Given the description of an element on the screen output the (x, y) to click on. 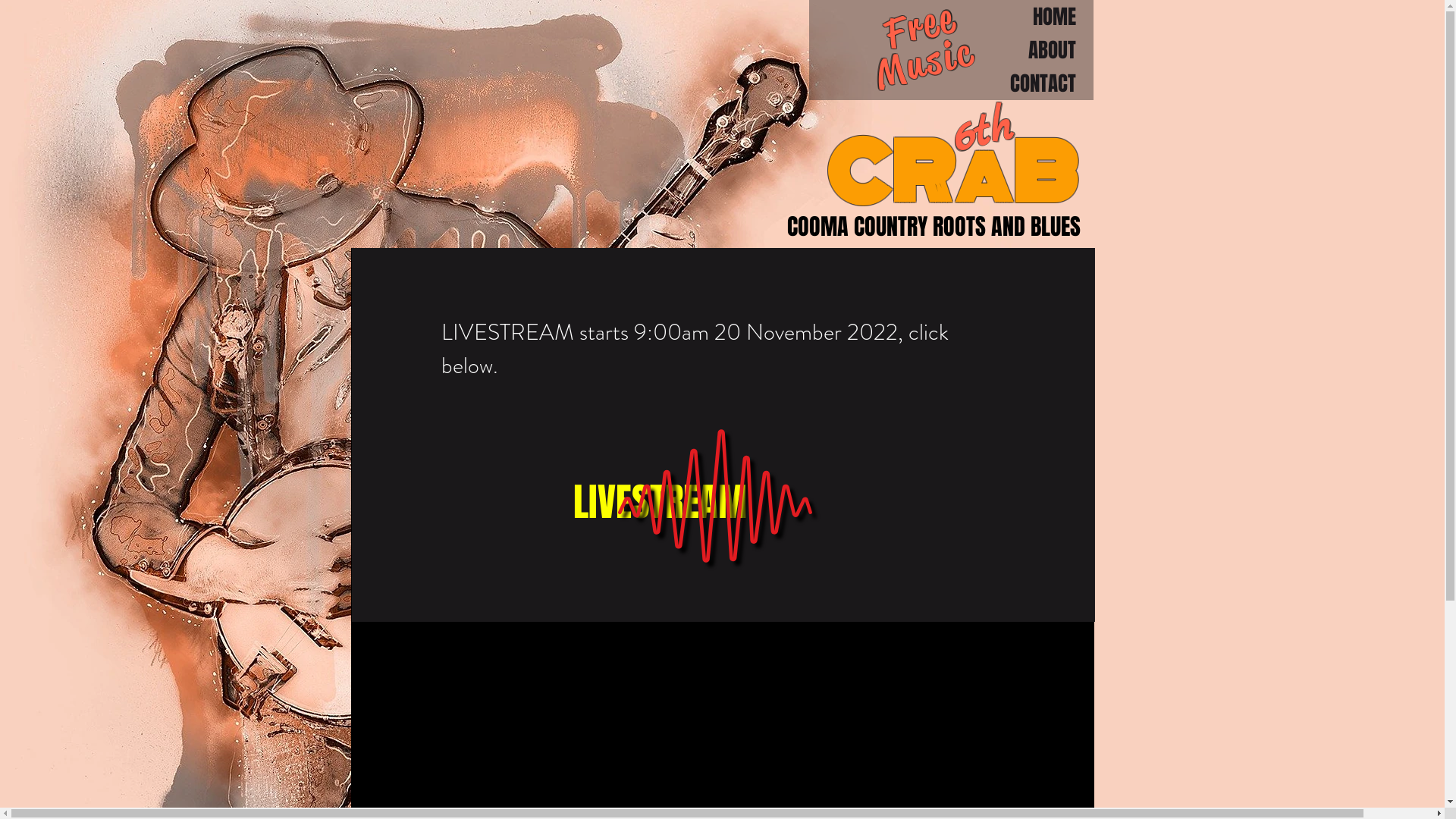
ABOUT Element type: text (950, 49)
LIVESTREAM starts 9:00am 20 November 2022, click below. Element type: text (694, 348)
CONTACT Element type: text (950, 83)
HOME Element type: text (950, 16)
